Given the description of an element on the screen output the (x, y) to click on. 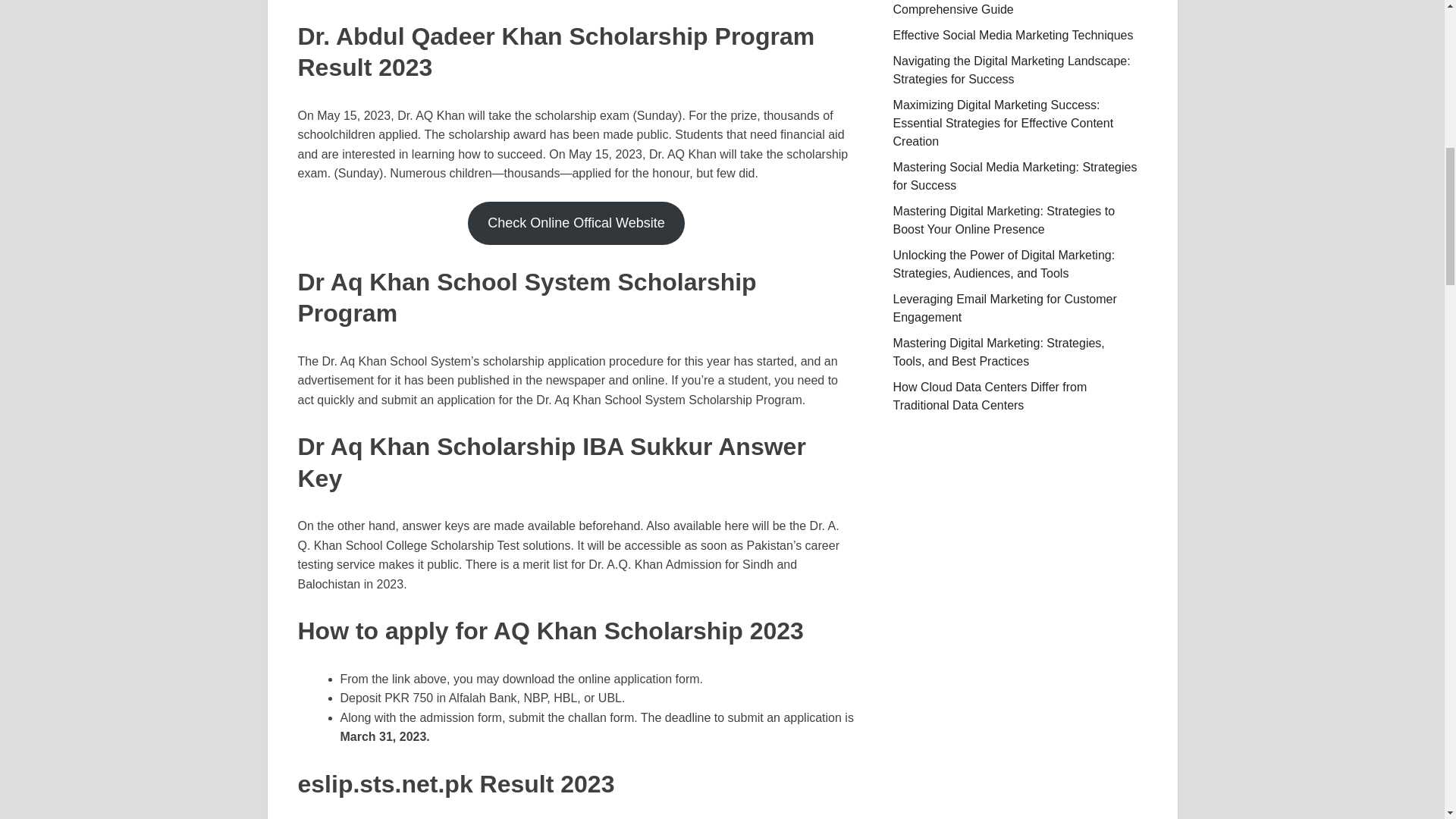
Check Online Offical Website (575, 222)
